Given the description of an element on the screen output the (x, y) to click on. 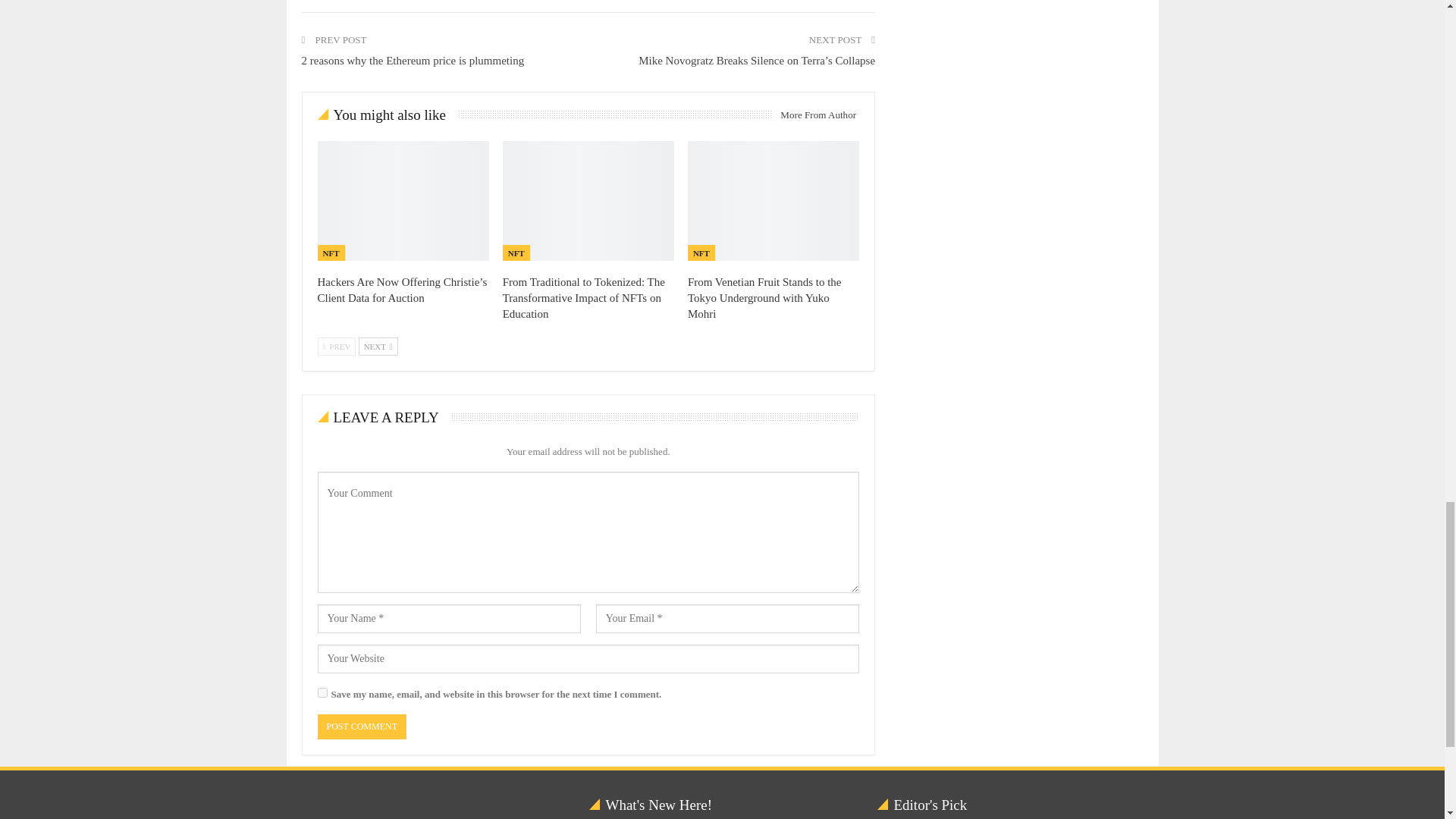
Next (377, 346)
yes (321, 692)
Post Comment (361, 726)
Previous (336, 346)
